Given the description of an element on the screen output the (x, y) to click on. 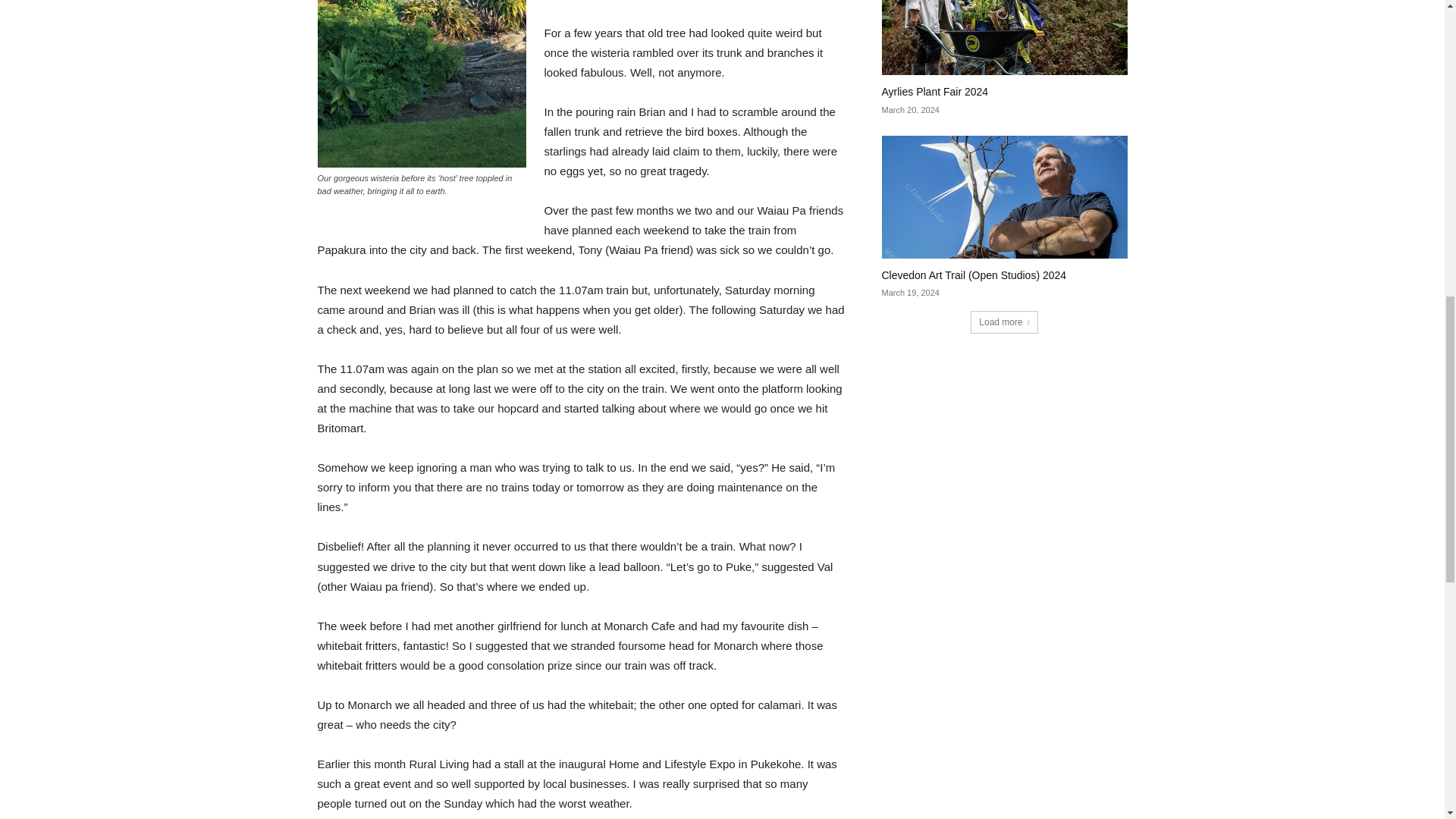
Ayrlies Plant Fair 2024 (934, 91)
Load more (1003, 322)
Ayrlies Plant Fair 2024 (934, 91)
Ayrlies Plant Fair 2024 (1003, 37)
